Given the description of an element on the screen output the (x, y) to click on. 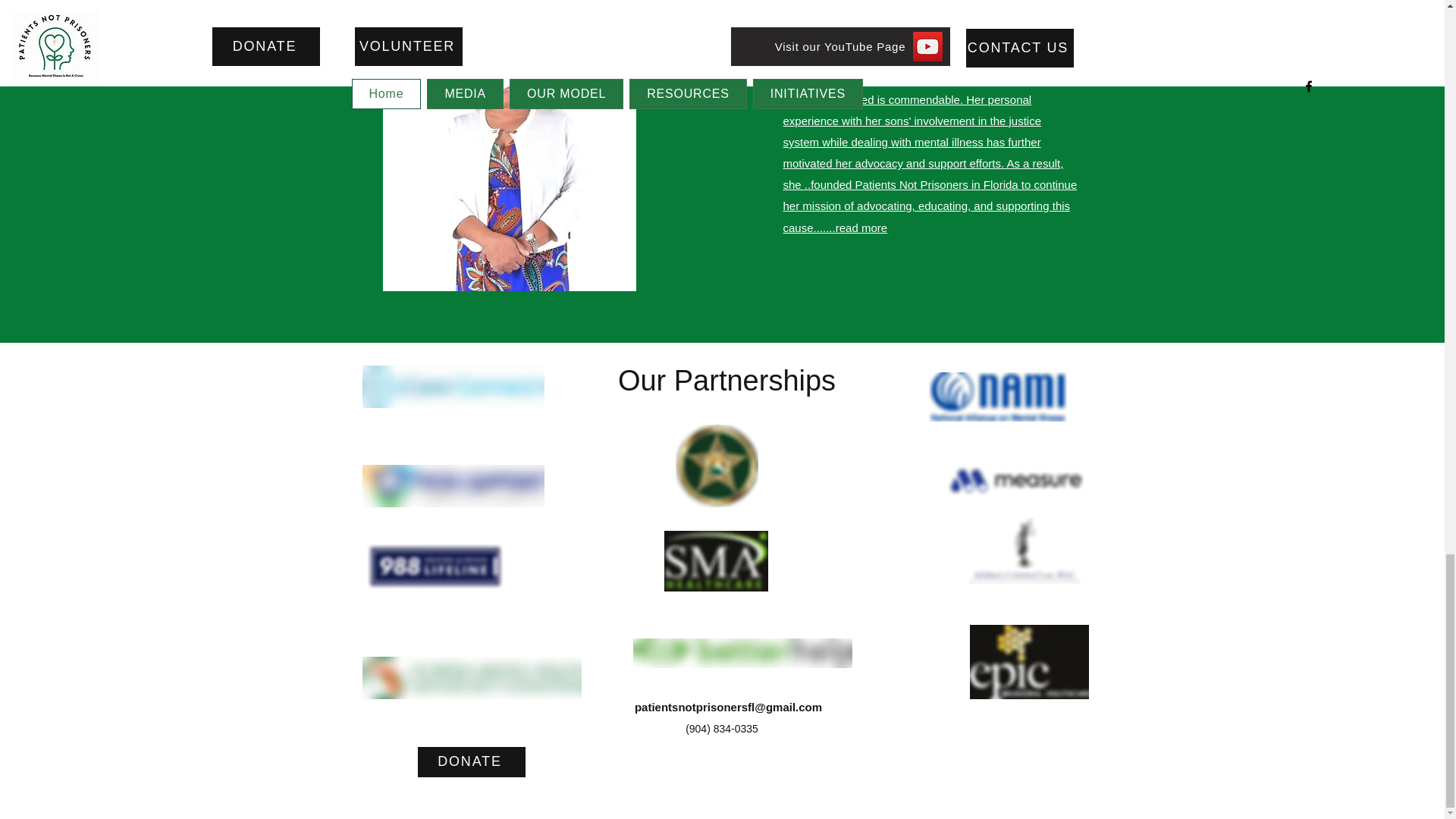
Betterhelp.png (741, 653)
988 .png (434, 565)
